Given the description of an element on the screen output the (x, y) to click on. 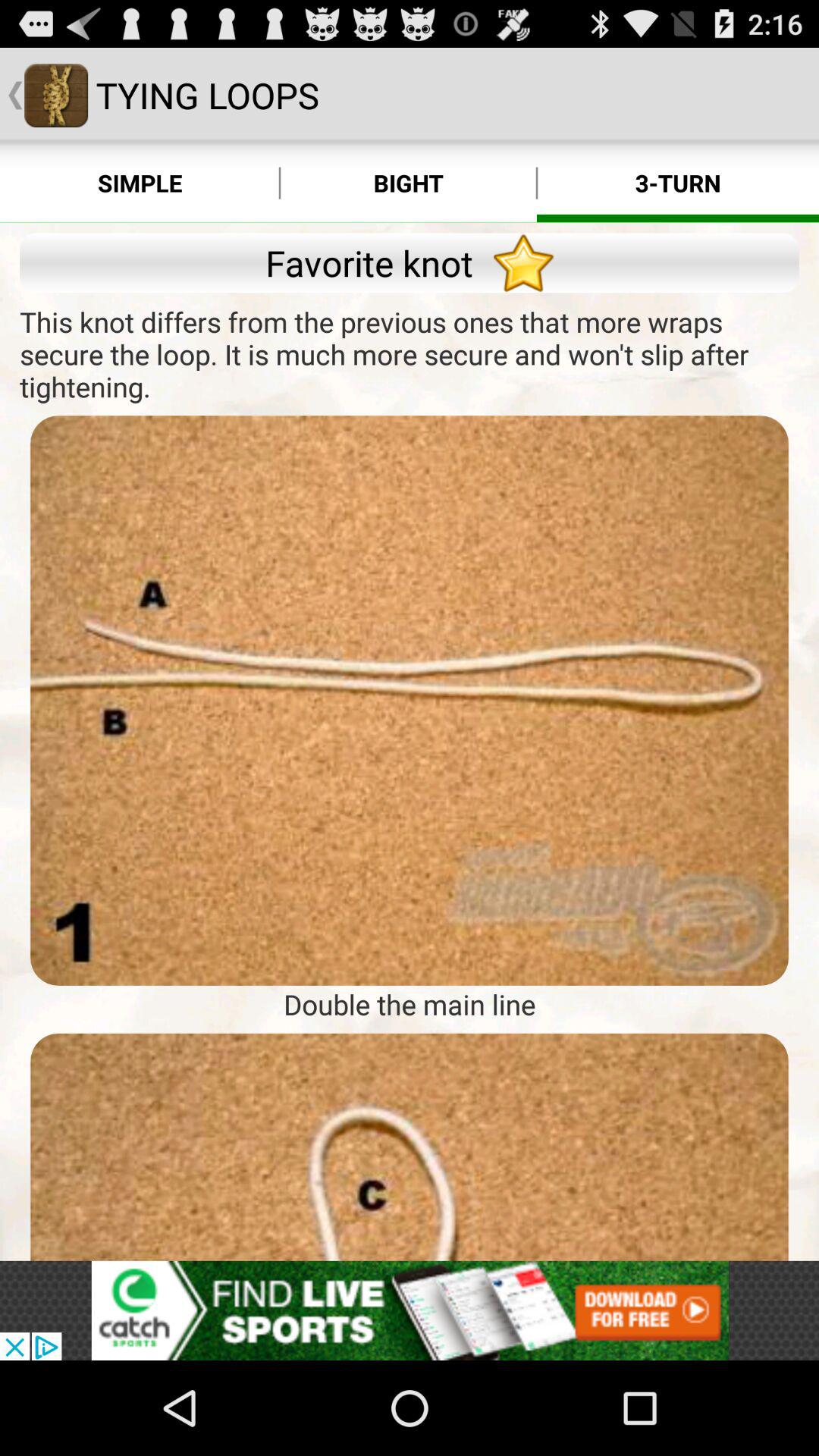
see the advertisement (409, 1310)
